Given the description of an element on the screen output the (x, y) to click on. 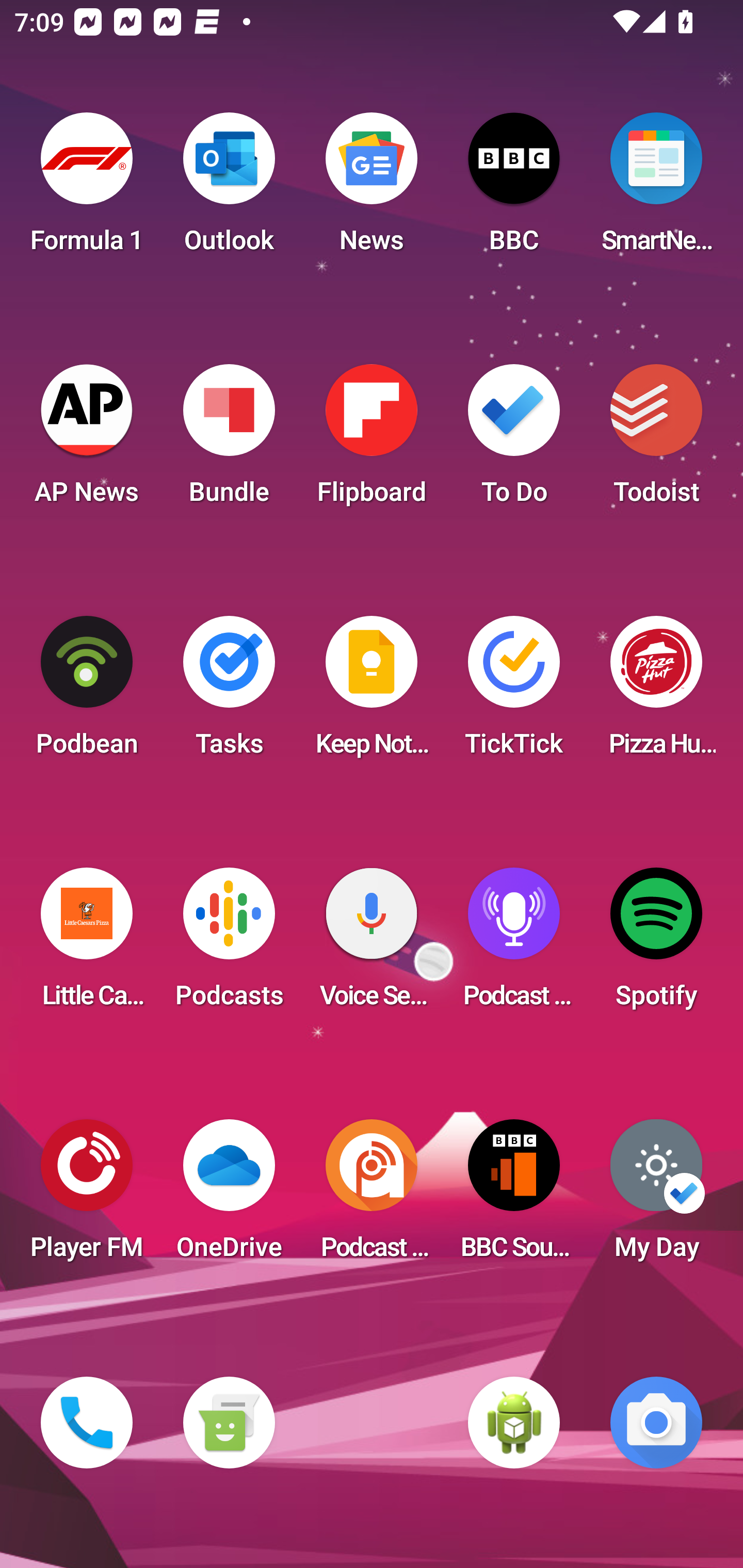
Formula 1 (86, 188)
Outlook (228, 188)
News (371, 188)
BBC (513, 188)
SmartNews (656, 188)
AP News (86, 440)
Bundle (228, 440)
Flipboard (371, 440)
To Do (513, 440)
Todoist (656, 440)
Podbean (86, 692)
Tasks (228, 692)
Keep Notes (371, 692)
TickTick (513, 692)
Pizza Hut HK & Macau (656, 692)
Little Caesars Pizza (86, 943)
Podcasts (228, 943)
Voice Search (371, 943)
Podcast Player (513, 943)
Spotify (656, 943)
Player FM (86, 1195)
OneDrive (228, 1195)
Podcast Addict (371, 1195)
BBC Sounds (513, 1195)
My Day (656, 1195)
Phone (86, 1422)
Messaging (228, 1422)
WebView Browser Tester (513, 1422)
Camera (656, 1422)
